Given the description of an element on the screen output the (x, y) to click on. 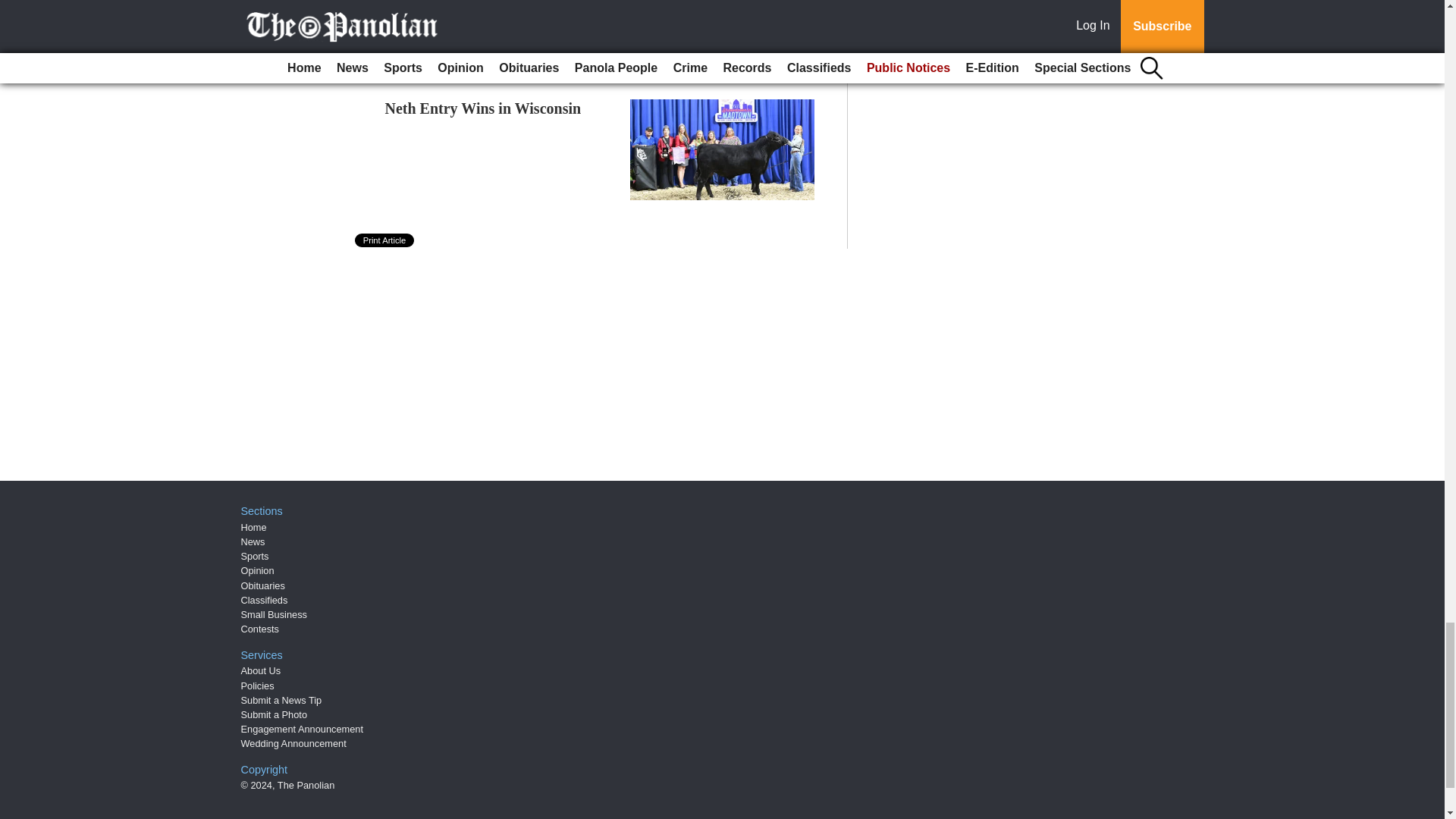
News (252, 541)
Sports (255, 555)
Print Article (384, 240)
Obituaries (263, 585)
About Us (261, 670)
Neth Entry Wins in Wisconsin (482, 108)
Classifieds (264, 600)
Contests (260, 628)
Policies (258, 685)
Small Business (274, 614)
Home (253, 527)
Submit a News Tip (281, 699)
Neth Entry Wins in Wisconsin (482, 108)
Opinion (258, 570)
